Given the description of an element on the screen output the (x, y) to click on. 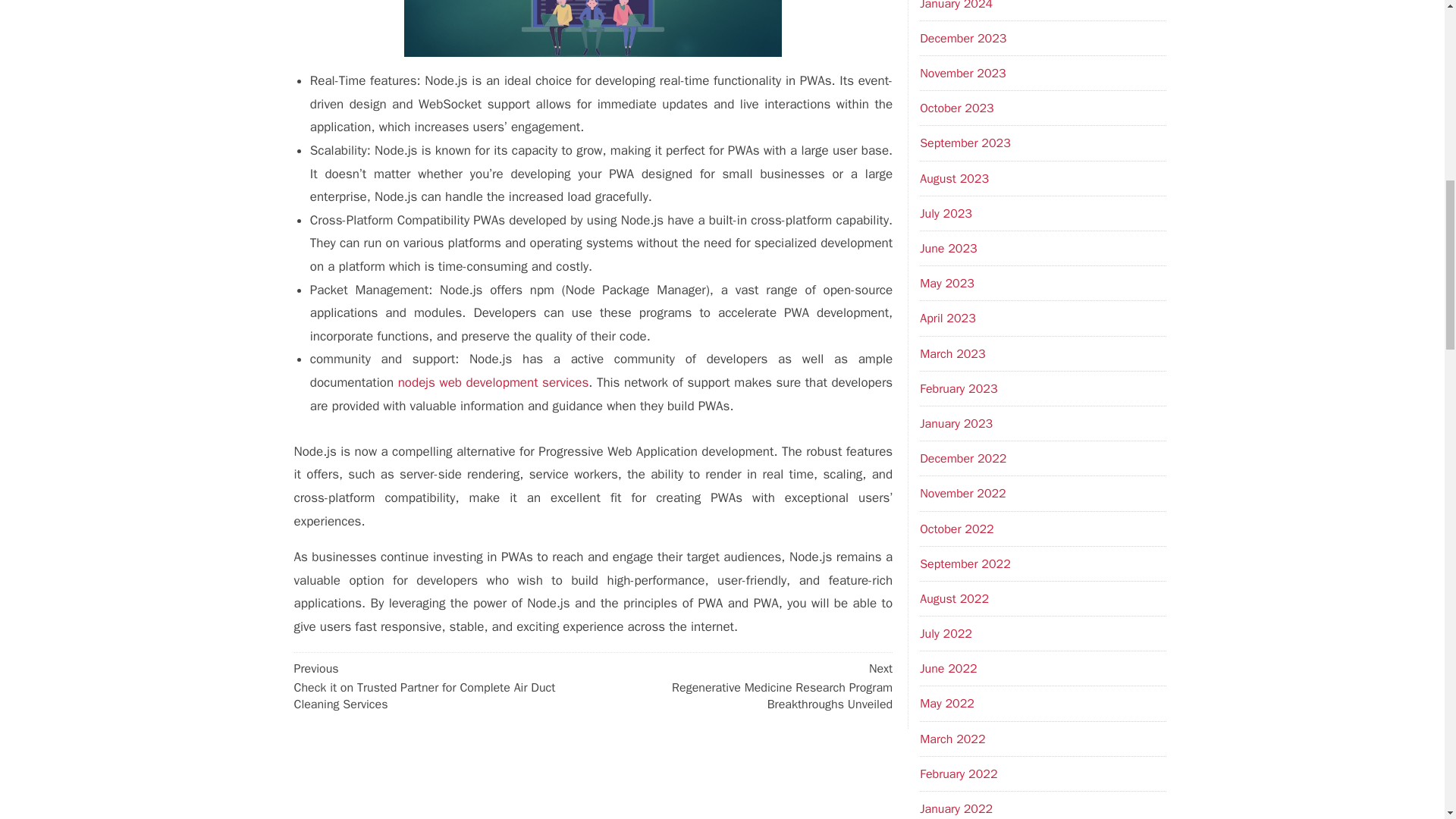
November 2023 (963, 73)
October 2022 (956, 529)
August 2023 (954, 178)
January 2023 (956, 423)
August 2022 (954, 598)
June 2022 (948, 668)
September 2022 (965, 563)
October 2023 (956, 108)
February 2023 (958, 388)
December 2023 (963, 38)
April 2023 (947, 318)
June 2023 (948, 248)
May 2023 (947, 283)
